Given the description of an element on the screen output the (x, y) to click on. 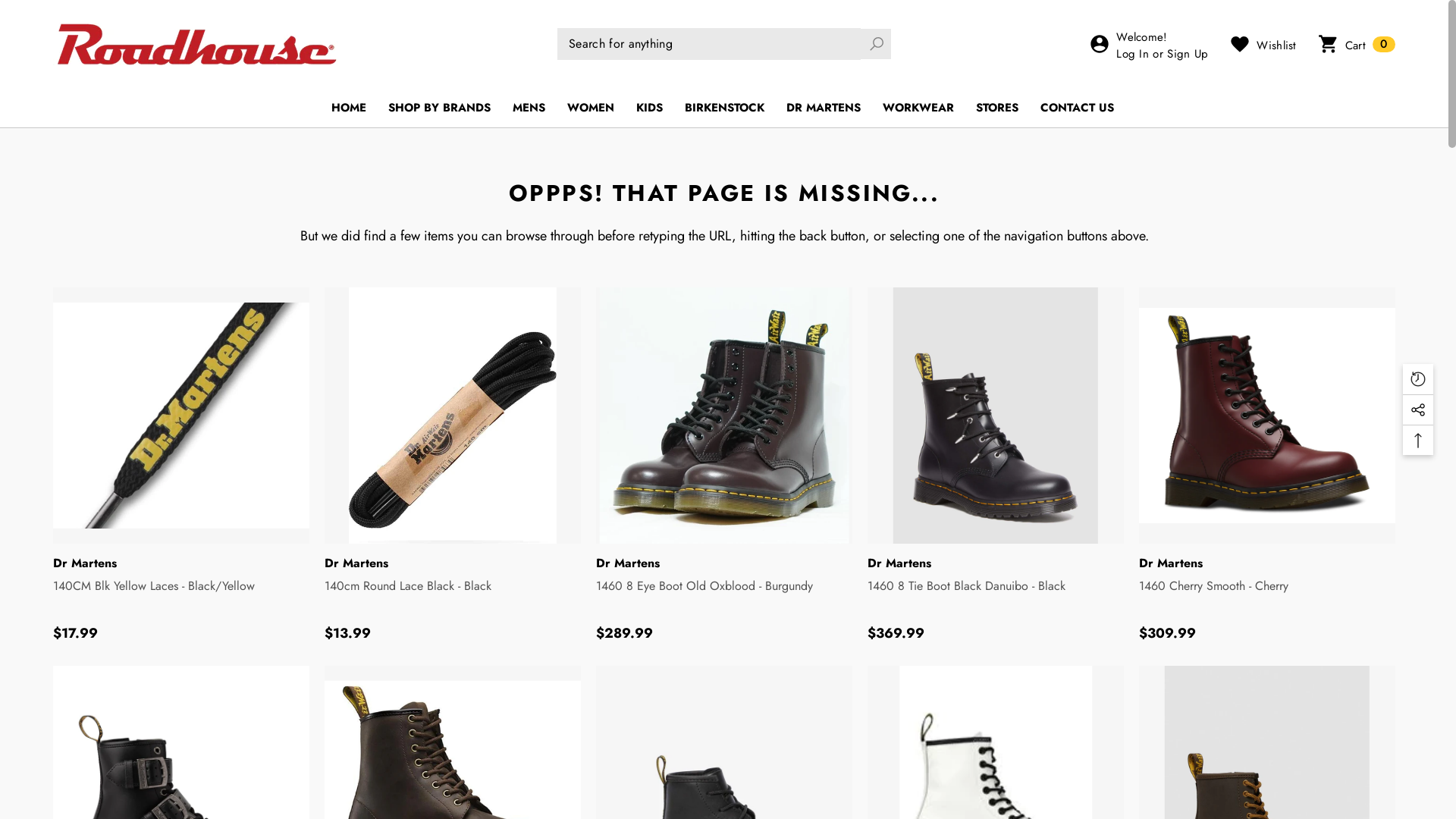
Dr Martens Element type: text (899, 562)
KIDS Element type: text (648, 107)
WORKWEAR Element type: text (917, 107)
WOMEN Element type: text (590, 107)
Log in Element type: text (724, 451)
DR MARTENS Element type: text (822, 107)
STORES Element type: text (996, 107)
140CM Blk Yellow Laces - Black/Yellow Element type: text (181, 595)
Dr Martens Element type: text (627, 562)
MENS Element type: text (528, 107)
BIRKENSTOCK Element type: text (723, 107)
HOME Element type: text (347, 107)
Log In Element type: text (1132, 53)
Dr Martens Element type: text (356, 562)
1460 8 Eye Boot Old Oxblood - Burgundy Element type: text (724, 595)
Dr Martens Element type: text (1170, 562)
Sign Up Element type: text (1187, 53)
Cart 0
0 items Element type: text (1356, 43)
1460 Cherry Smooth - Cherry Element type: text (1267, 595)
140cm Round Lace Black - Black Element type: text (452, 595)
Dr Martens Element type: text (84, 562)
SHOP BY BRANDS Element type: text (439, 107)
CONTACT US Element type: text (1077, 107)
1460 8 Tie Boot Black Danuibo - Black Element type: text (995, 595)
Wishlist Element type: text (1262, 43)
